Given the description of an element on the screen output the (x, y) to click on. 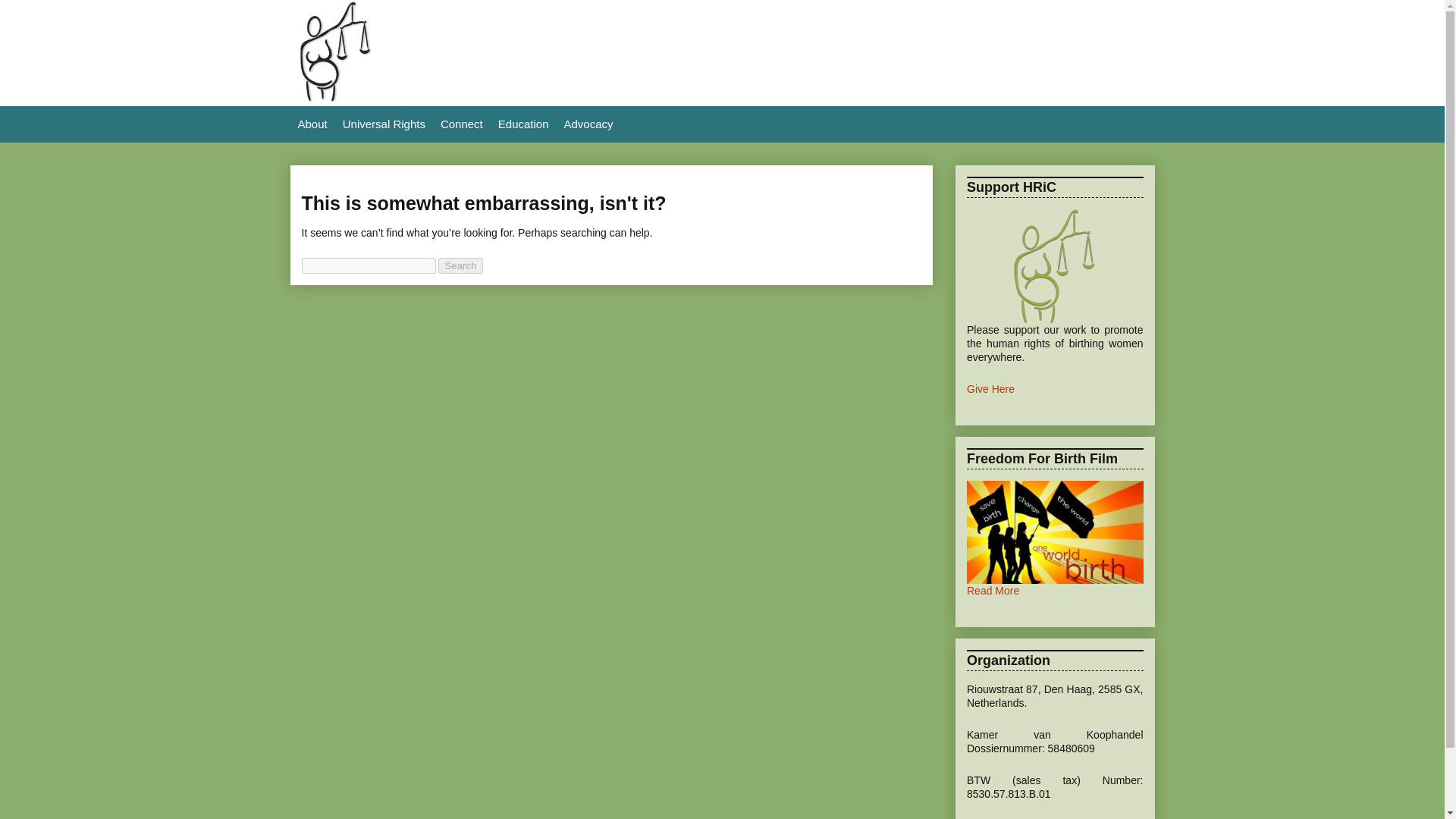
Logo (333, 99)
Search (459, 265)
Search (459, 265)
Read More (992, 590)
About (311, 124)
Connect (461, 124)
Universal Rights (383, 124)
Education (523, 124)
Give Here (990, 388)
Advocacy (588, 124)
